Given the description of an element on the screen output the (x, y) to click on. 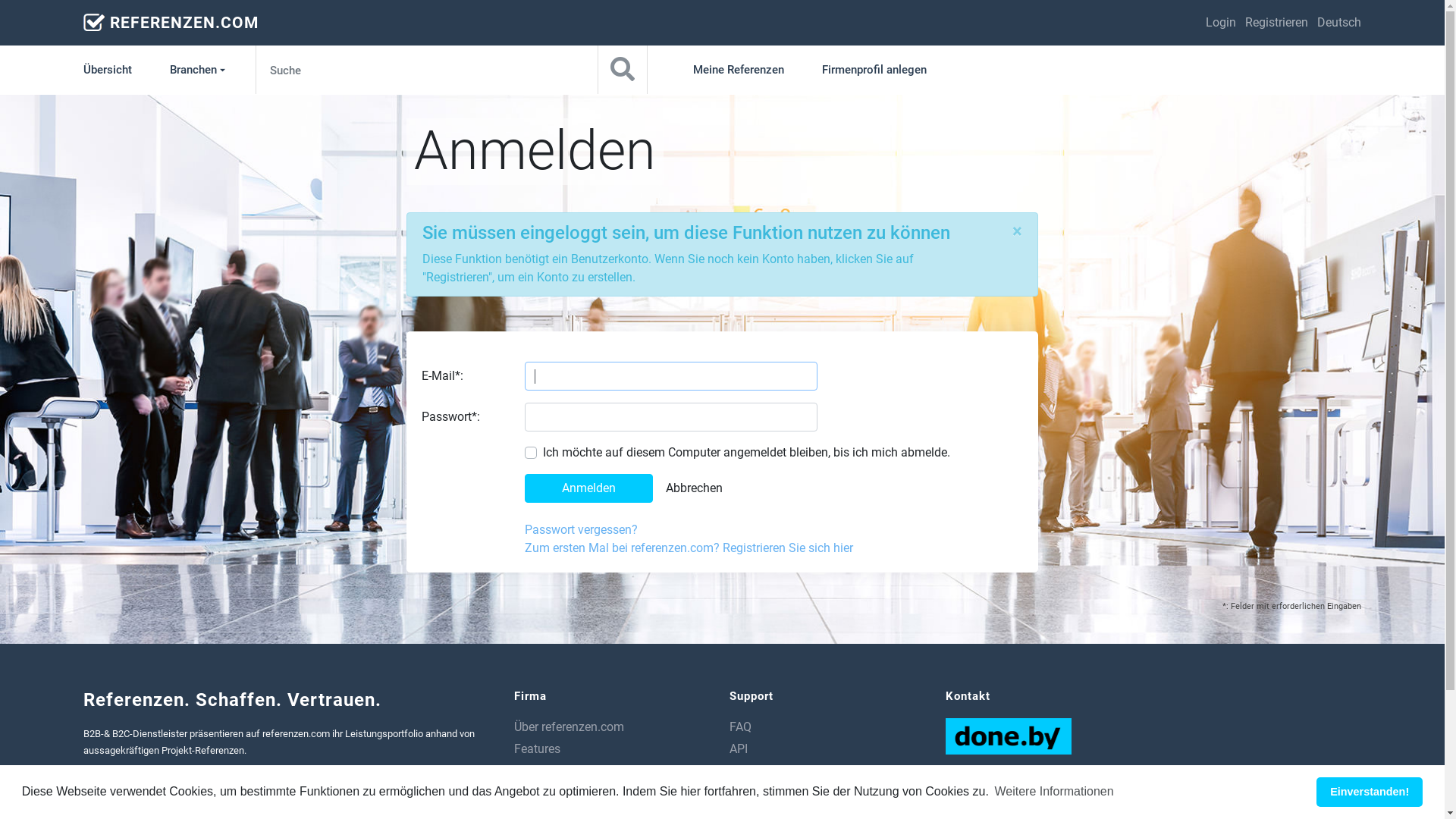
FAQ Element type: text (740, 726)
Impressum Element type: text (759, 792)
Anmelden Element type: text (588, 487)
Passwort vergessen? Element type: text (580, 529)
Features Element type: text (537, 748)
Preise & Pakete Element type: text (555, 770)
Login Element type: text (1220, 22)
Registrieren Element type: text (1276, 22)
Branchen Element type: text (198, 69)
Deutsch Element type: text (1339, 22)
Abbrechen Element type: text (693, 487)
Kontakt Element type: text (750, 770)
Meine Referenzen Element type: text (738, 69)
Weitere Informationen Element type: text (1053, 791)
Management Element type: text (549, 792)
Firmenprofil anlegen Element type: text (874, 69)
Zur Beta einladen Element type: text (1353, 799)
API Element type: text (738, 748)
REFERENZEN.COM Element type: text (183, 22)
Einverstanden! Element type: text (1369, 791)
